Given the description of an element on the screen output the (x, y) to click on. 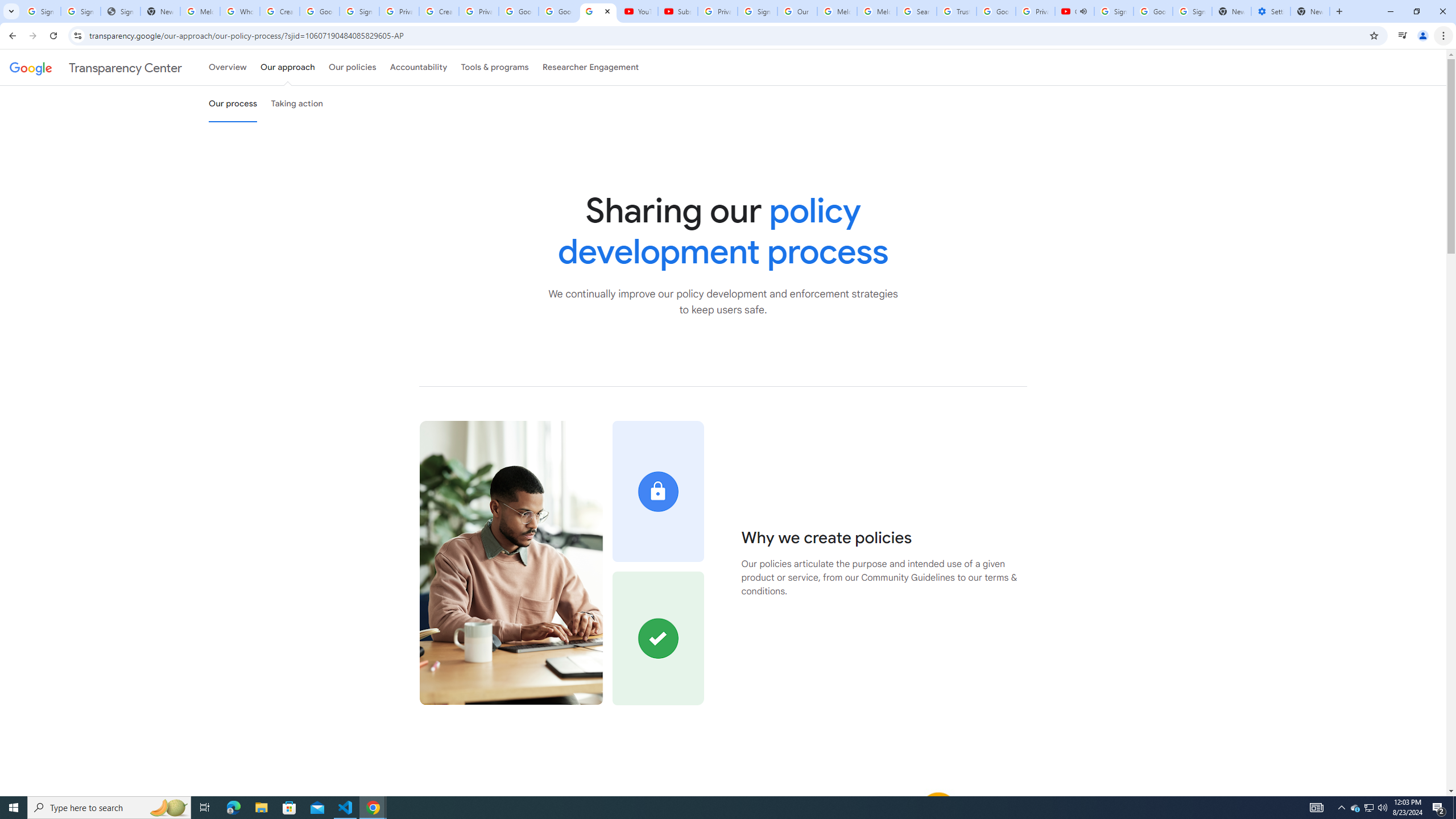
Who is my administrator? - Google Account Help (239, 11)
Settings - Addresses and more (1270, 11)
Create your Google Account (438, 11)
Sign in - Google Accounts (359, 11)
